Given the description of an element on the screen output the (x, y) to click on. 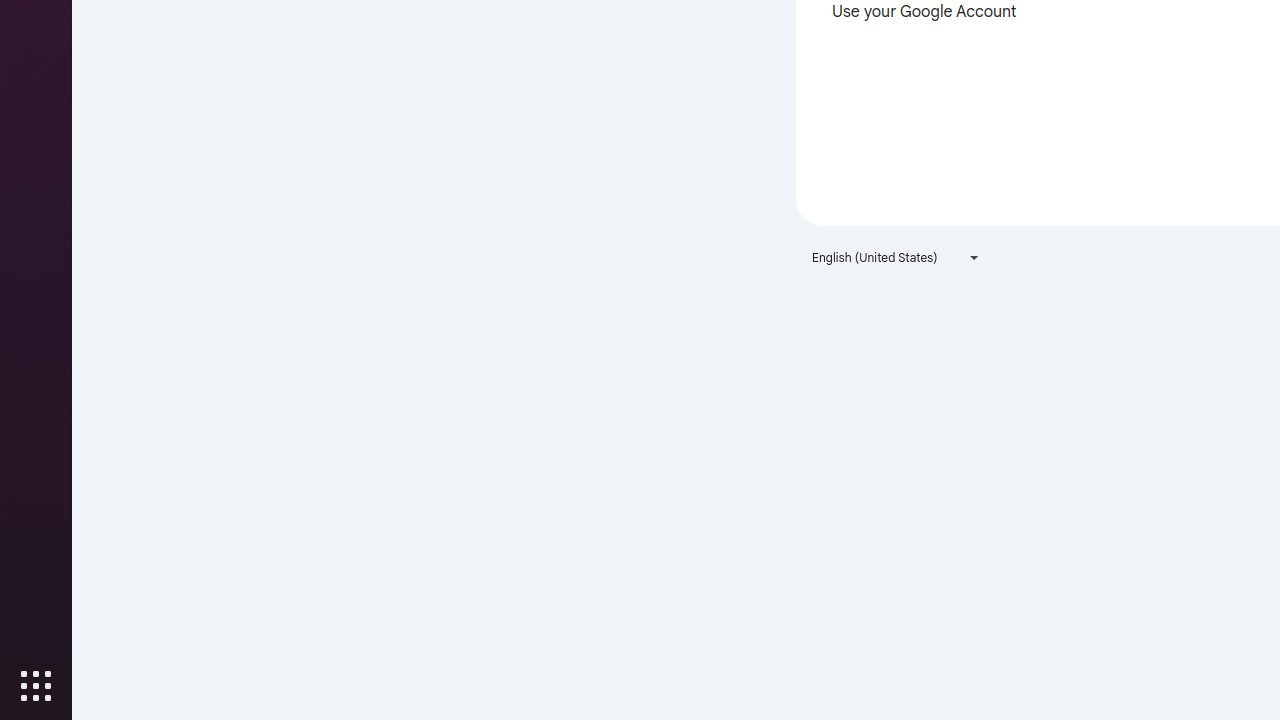
​English (United States) Element type: combo-box (896, 258)
Show Applications Element type: toggle-button (36, 686)
